Given the description of an element on the screen output the (x, y) to click on. 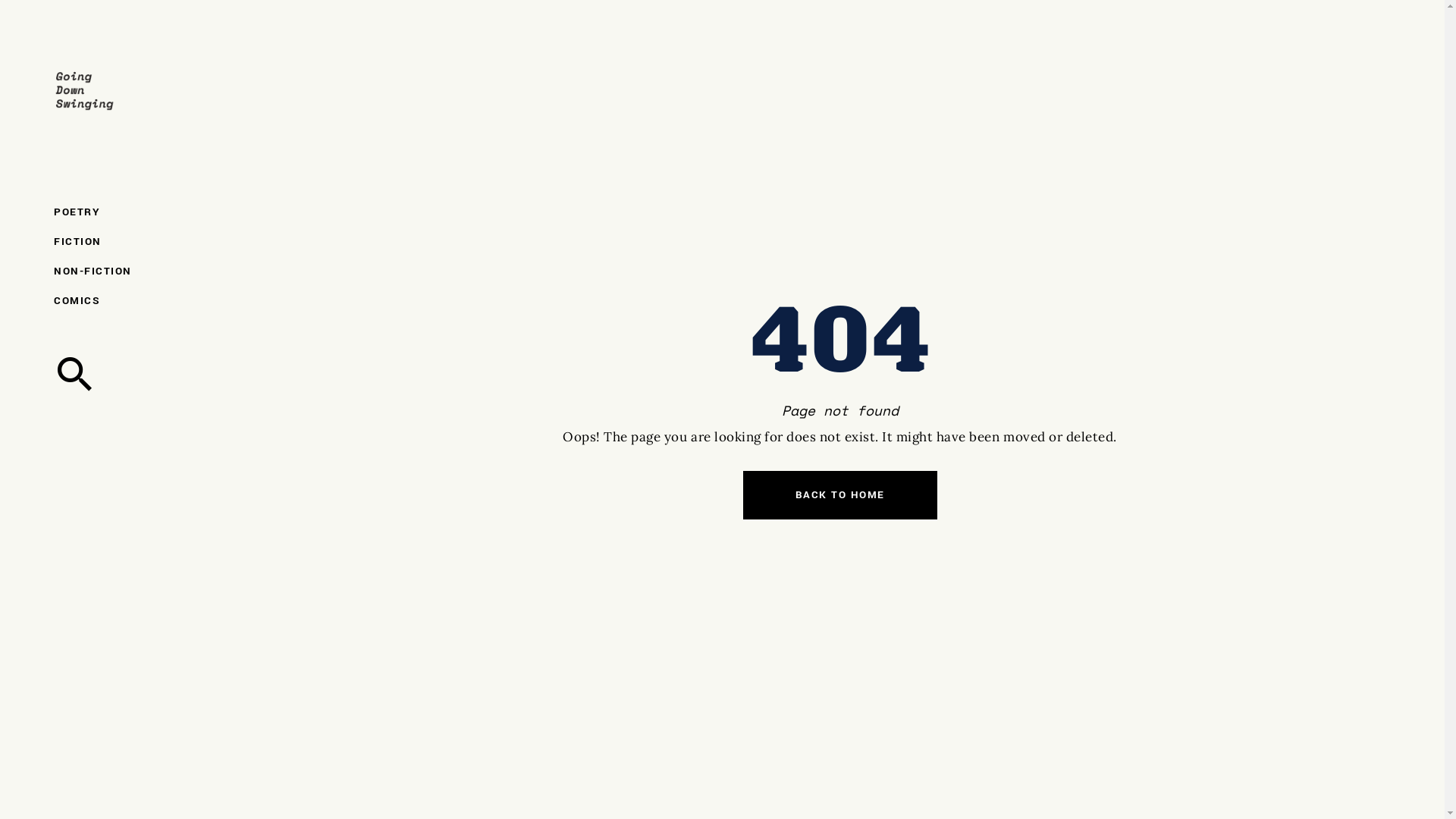
NON-FICTION Element type: text (117, 270)
POETRY Element type: text (117, 211)
BACK TO HOME Element type: text (840, 494)
FICTION Element type: text (117, 241)
COMICS Element type: text (117, 300)
